Given the description of an element on the screen output the (x, y) to click on. 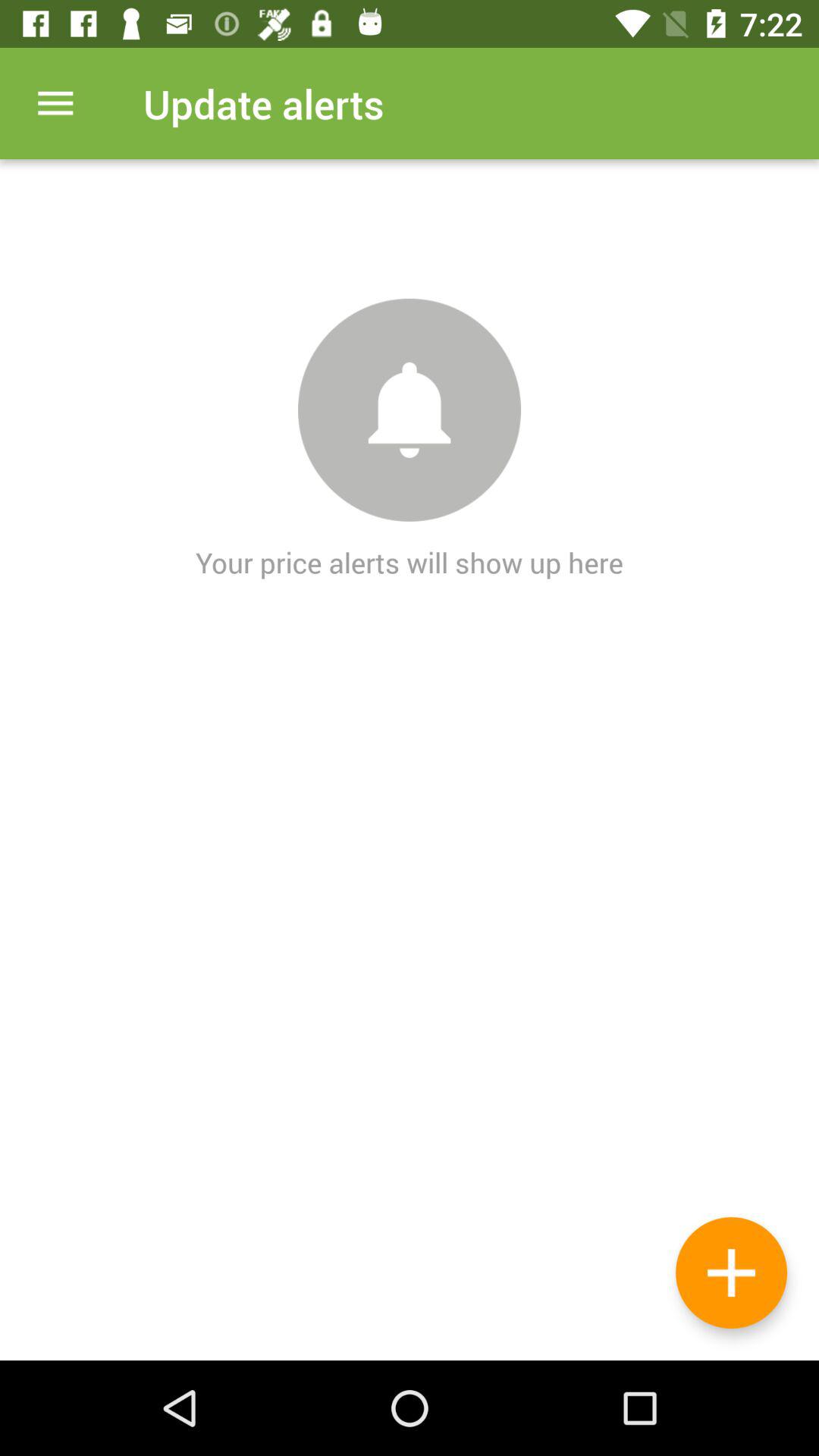
choose item to the left of update alerts (55, 103)
